Given the description of an element on the screen output the (x, y) to click on. 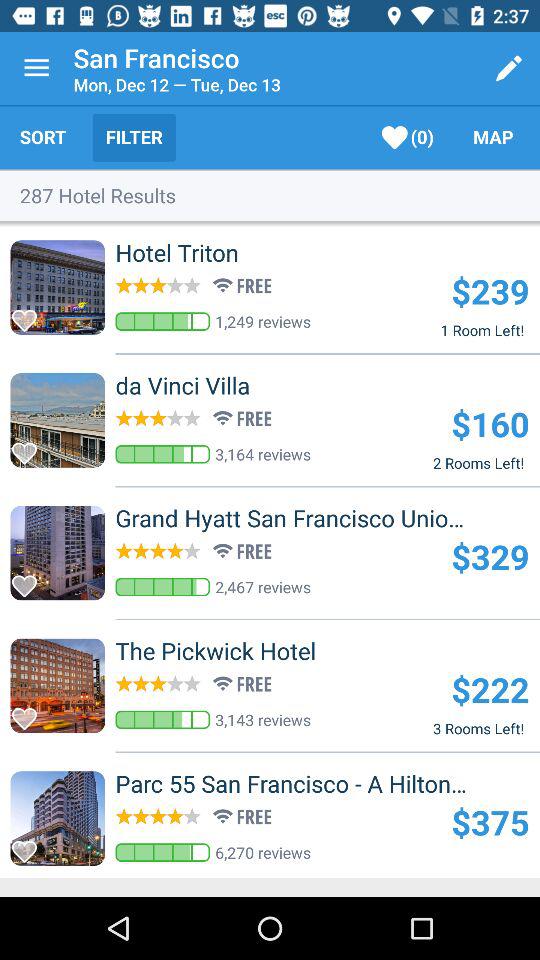
click item next to the filter item (407, 137)
